Given the description of an element on the screen output the (x, y) to click on. 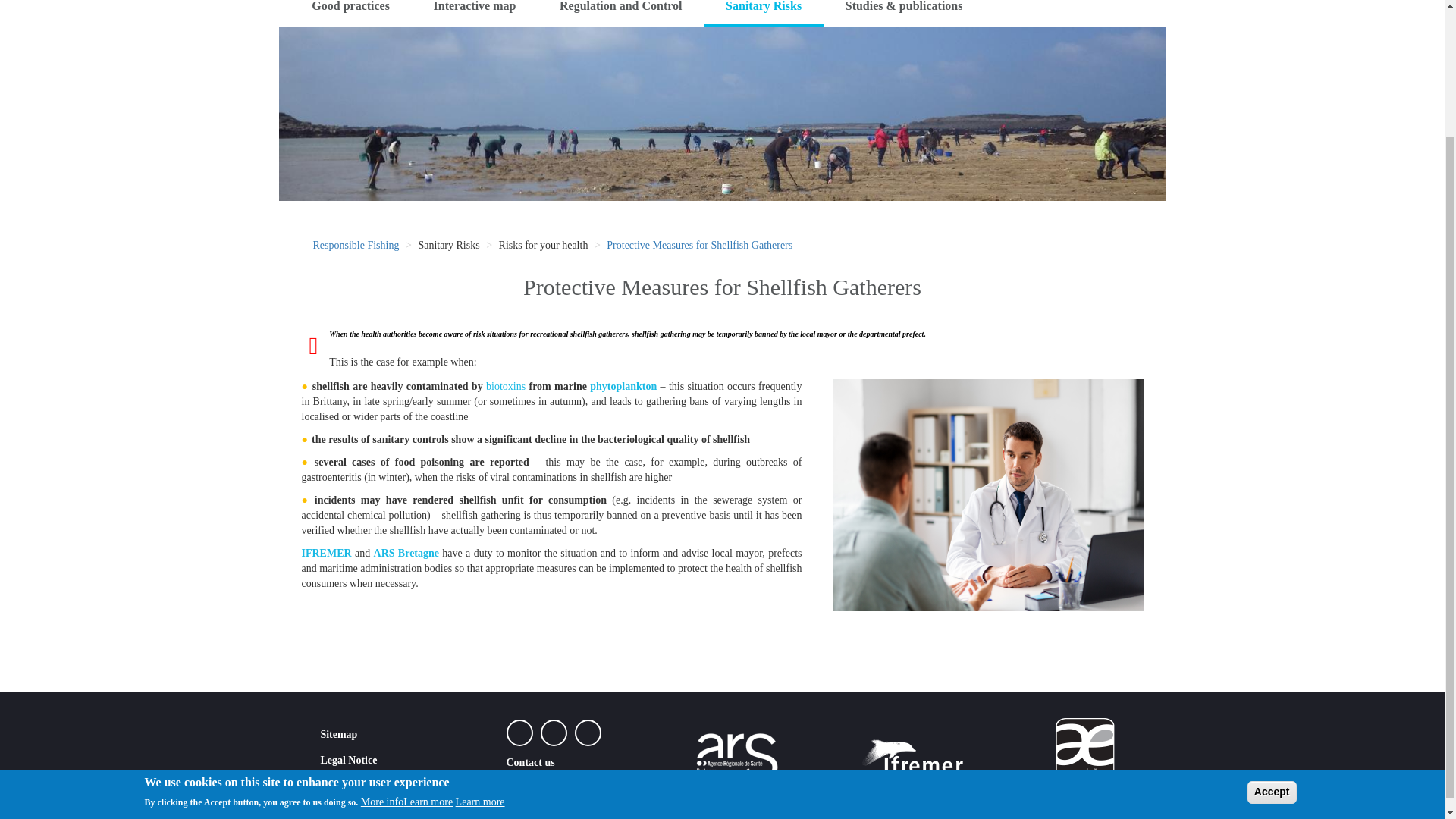
Good practices (349, 13)
Sanitary Risks (763, 13)
Protective Measures for Shellfish Gatherers (699, 244)
phytoplankton (622, 386)
ifremer (326, 552)
Interactive map (474, 13)
biotoxins (505, 386)
Legal Notice (348, 757)
Sitemap (338, 732)
IFREMER (326, 552)
Regulation and Control (620, 13)
ars-regional-health-authority (406, 552)
Contact us (530, 759)
Accessibility (348, 783)
biotoxin (505, 386)
